Given the description of an element on the screen output the (x, y) to click on. 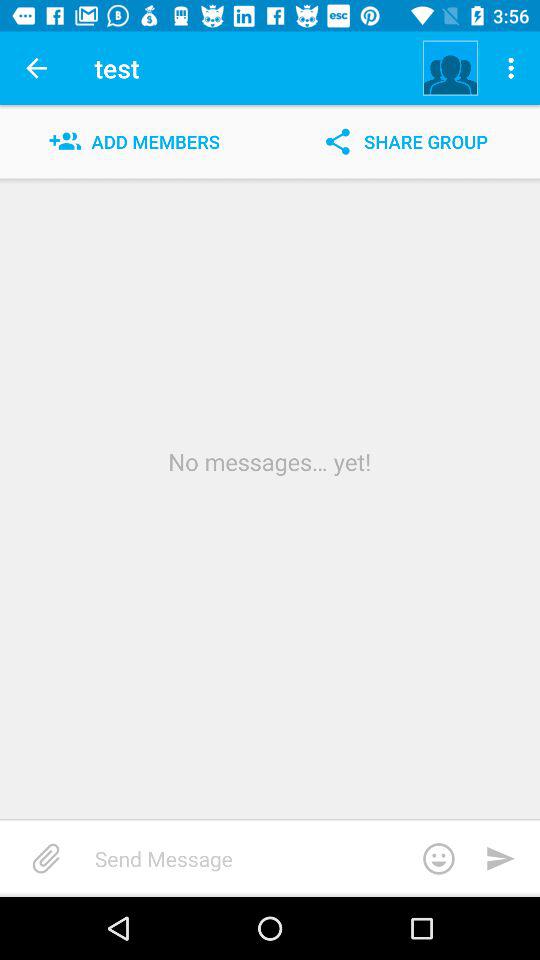
click the item above the share group (450, 67)
